Given the description of an element on the screen output the (x, y) to click on. 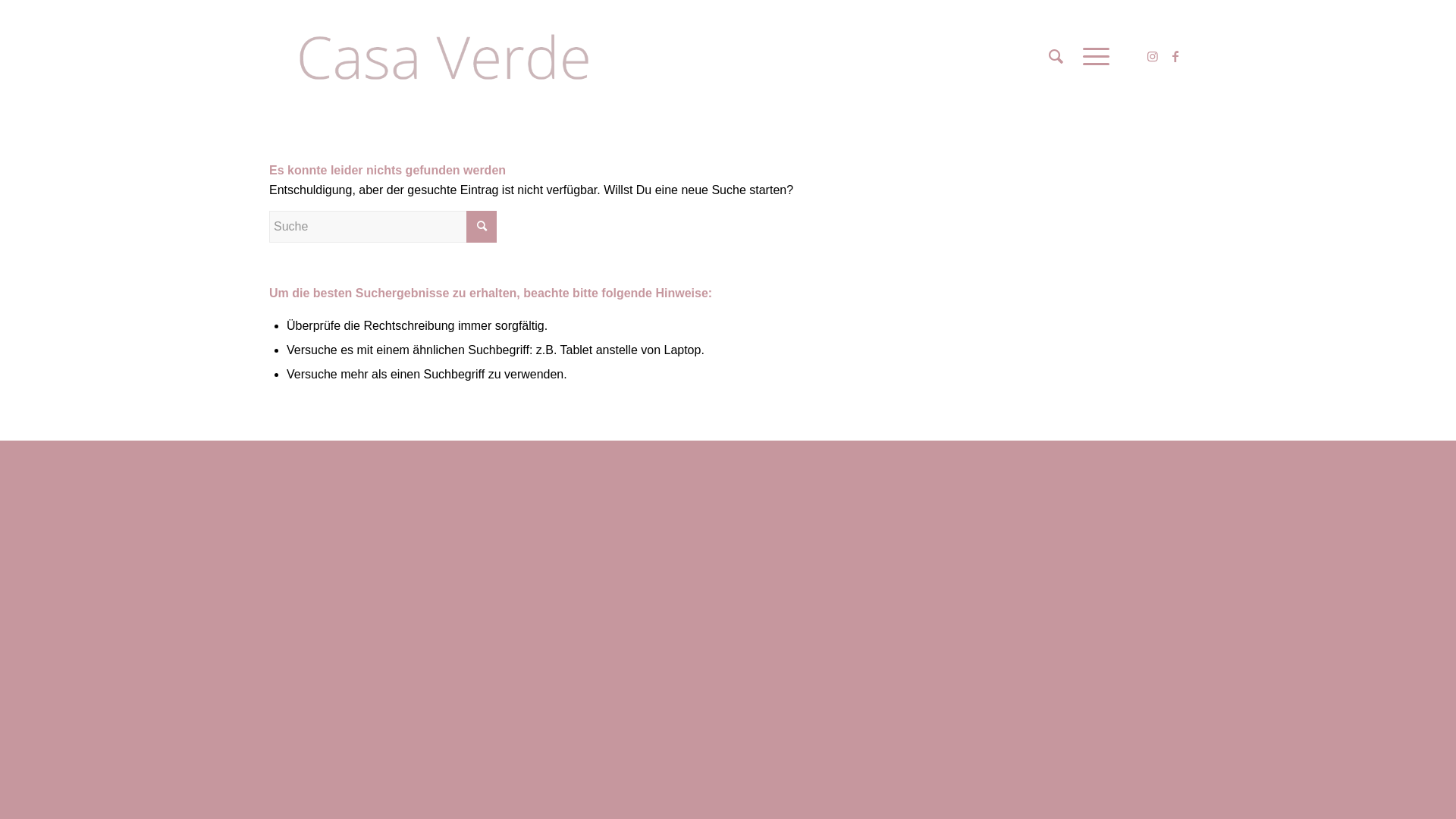
Instagram Element type: hover (1152, 55)
Facebook Element type: hover (1175, 55)
